Given the description of an element on the screen output the (x, y) to click on. 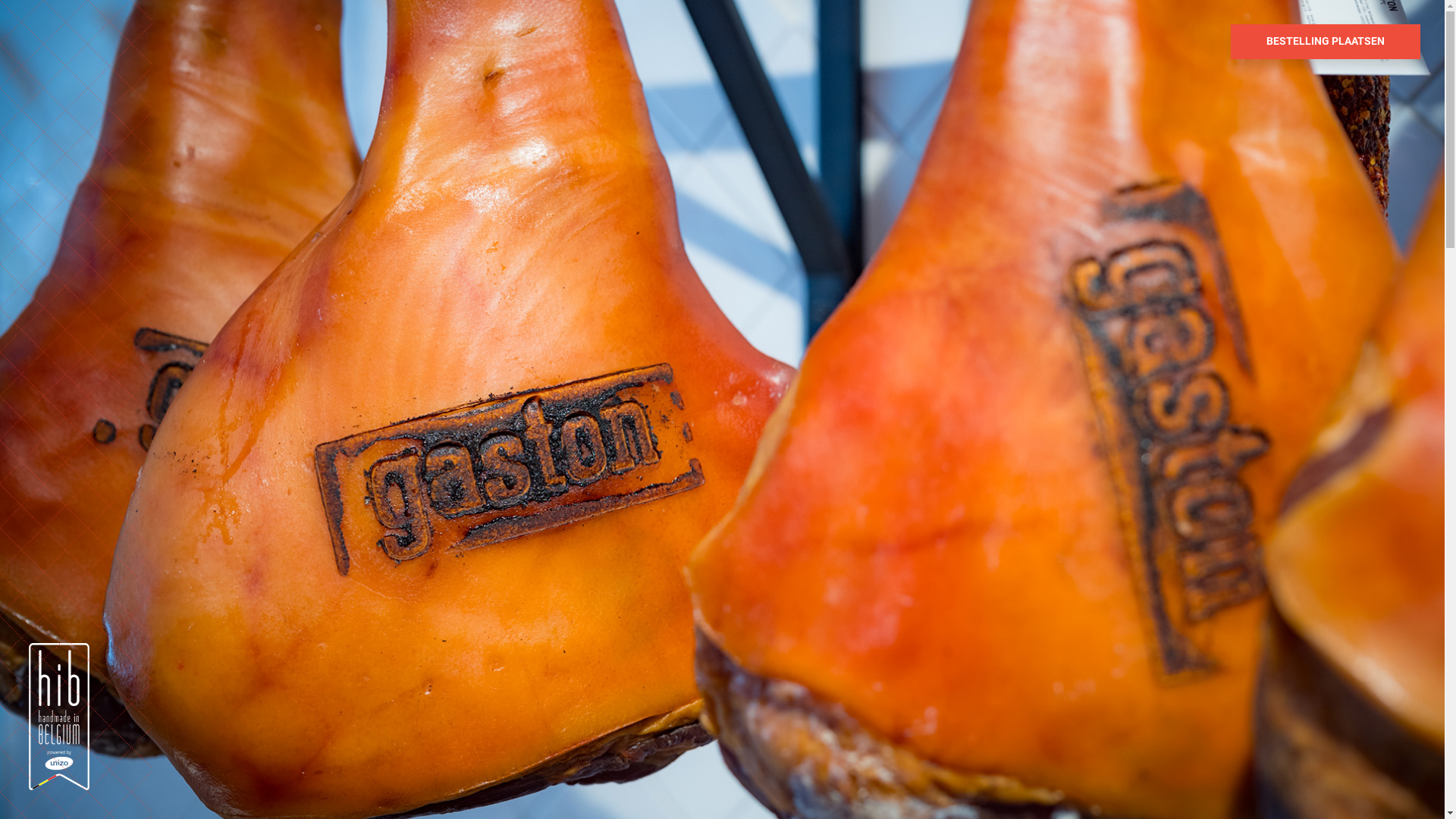
BESTELLING PLAATSEN Element type: text (1325, 41)
